Given the description of an element on the screen output the (x, y) to click on. 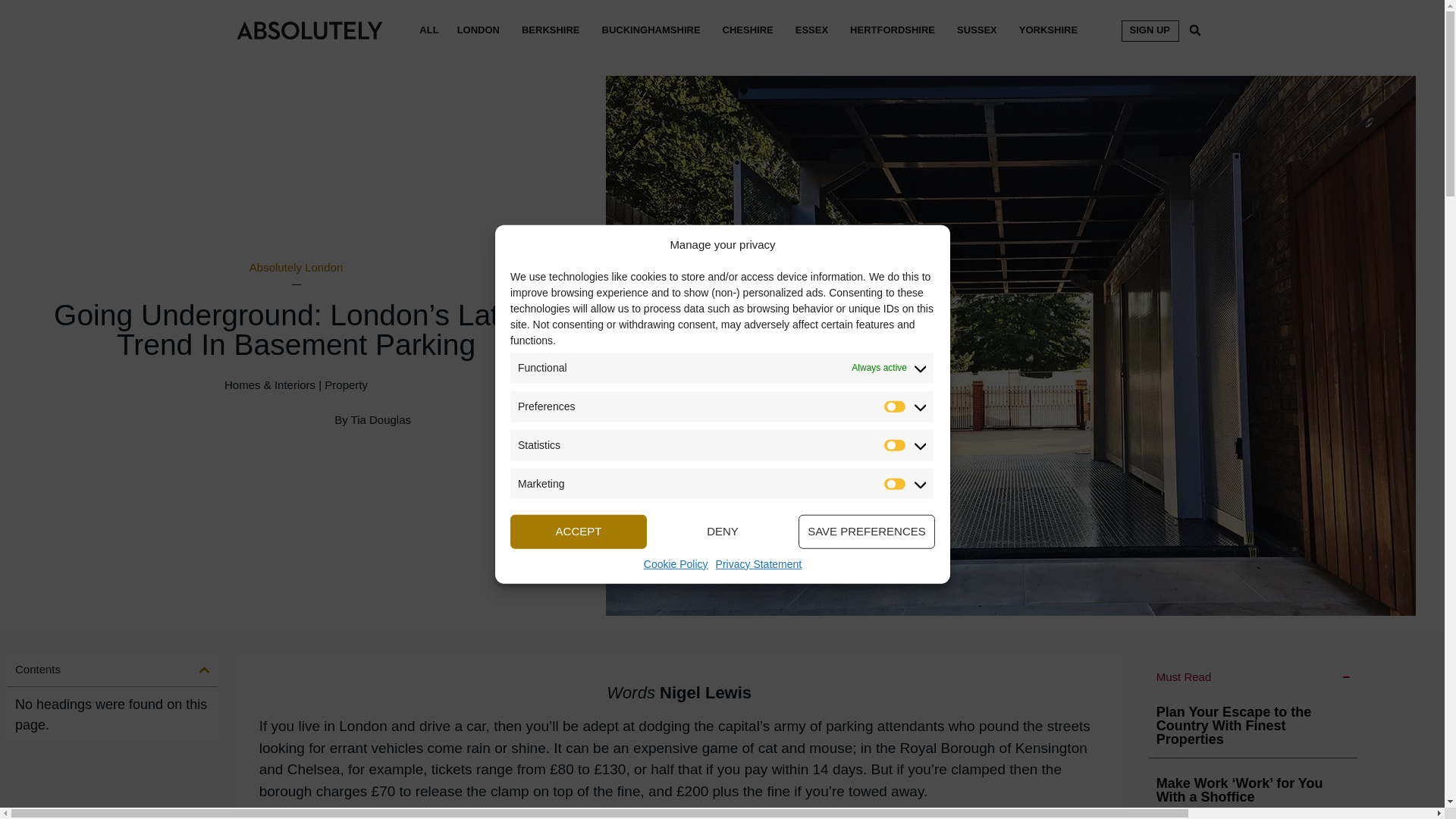
SAVE PREFERENCES (865, 530)
Cookie Policy (675, 563)
Privacy Statement (758, 563)
LONDON (478, 16)
ACCEPT (577, 530)
ALL (428, 14)
DENY (721, 530)
